Given the description of an element on the screen output the (x, y) to click on. 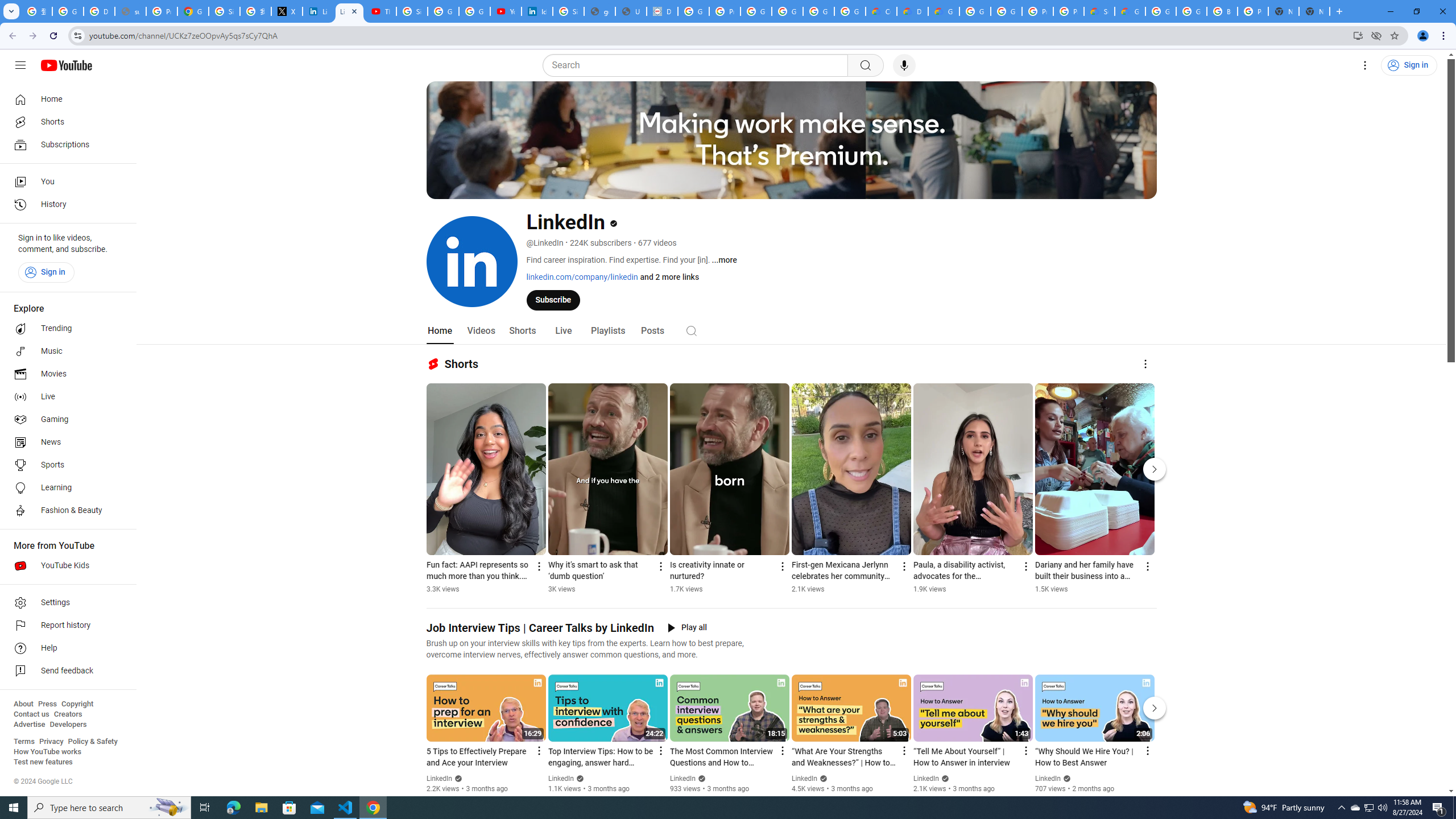
Report history (64, 625)
Is creativity innate or nurtured? - play Short (722, 571)
support.google.com - Network error (130, 11)
